Given the description of an element on the screen output the (x, y) to click on. 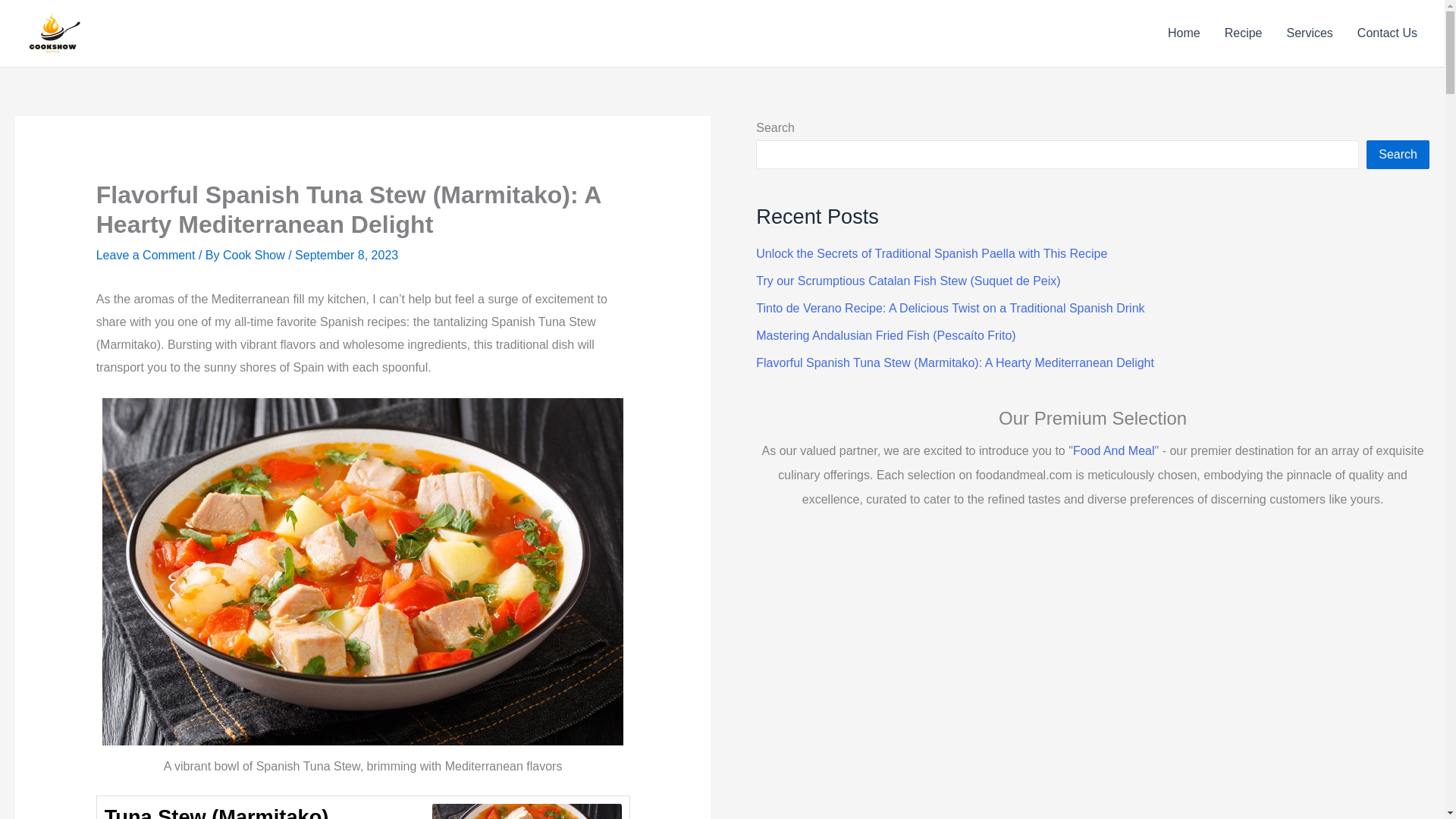
Food And Meal (1113, 450)
View all posts by Cook Show (255, 254)
Home (1184, 33)
Services (1308, 33)
Cook Show (255, 254)
Leave a Comment (145, 254)
Search (1398, 154)
Contact Us (1387, 33)
Recipe (1243, 33)
